Given the description of an element on the screen output the (x, y) to click on. 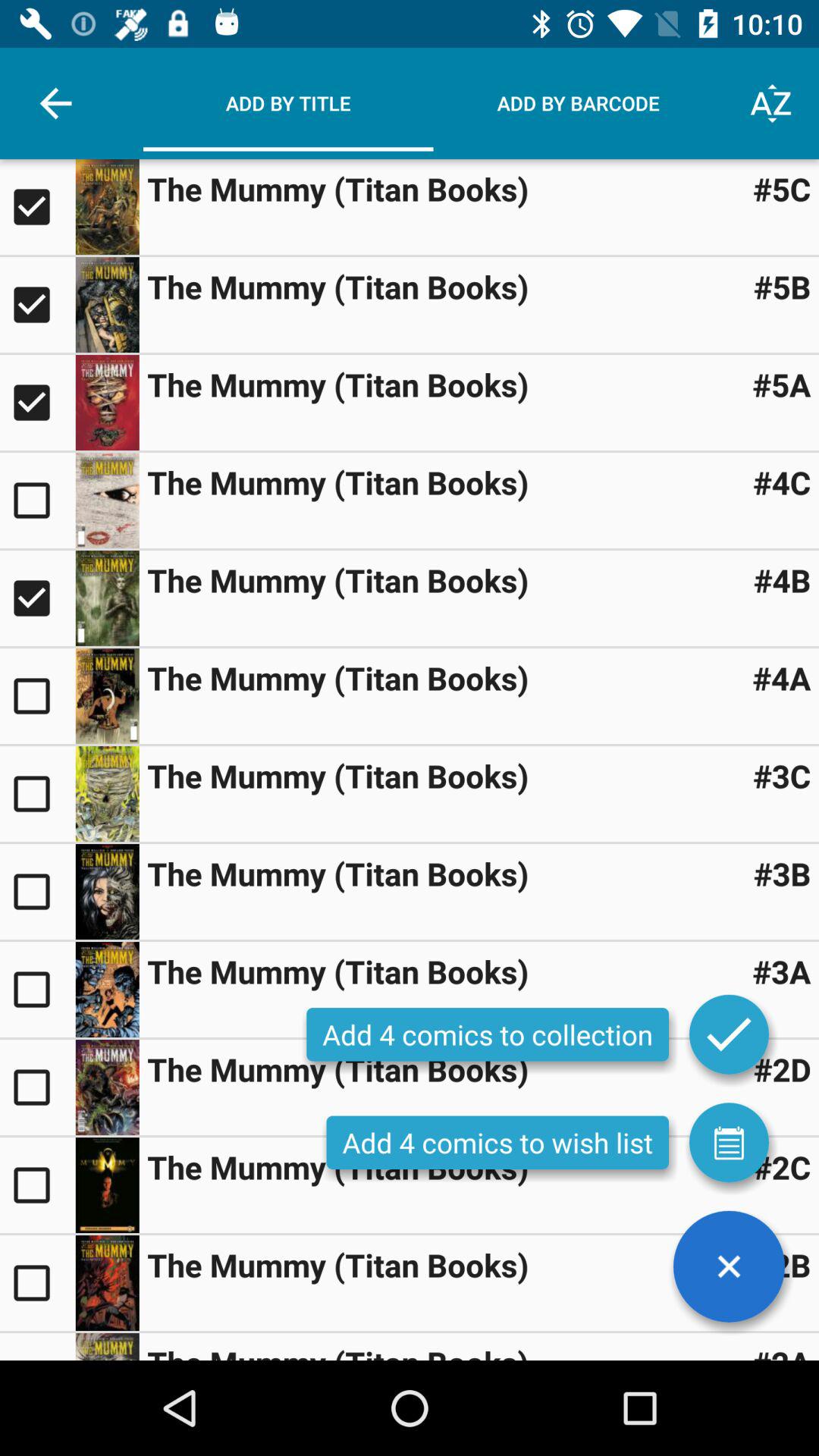
pic this (107, 402)
